Given the description of an element on the screen output the (x, y) to click on. 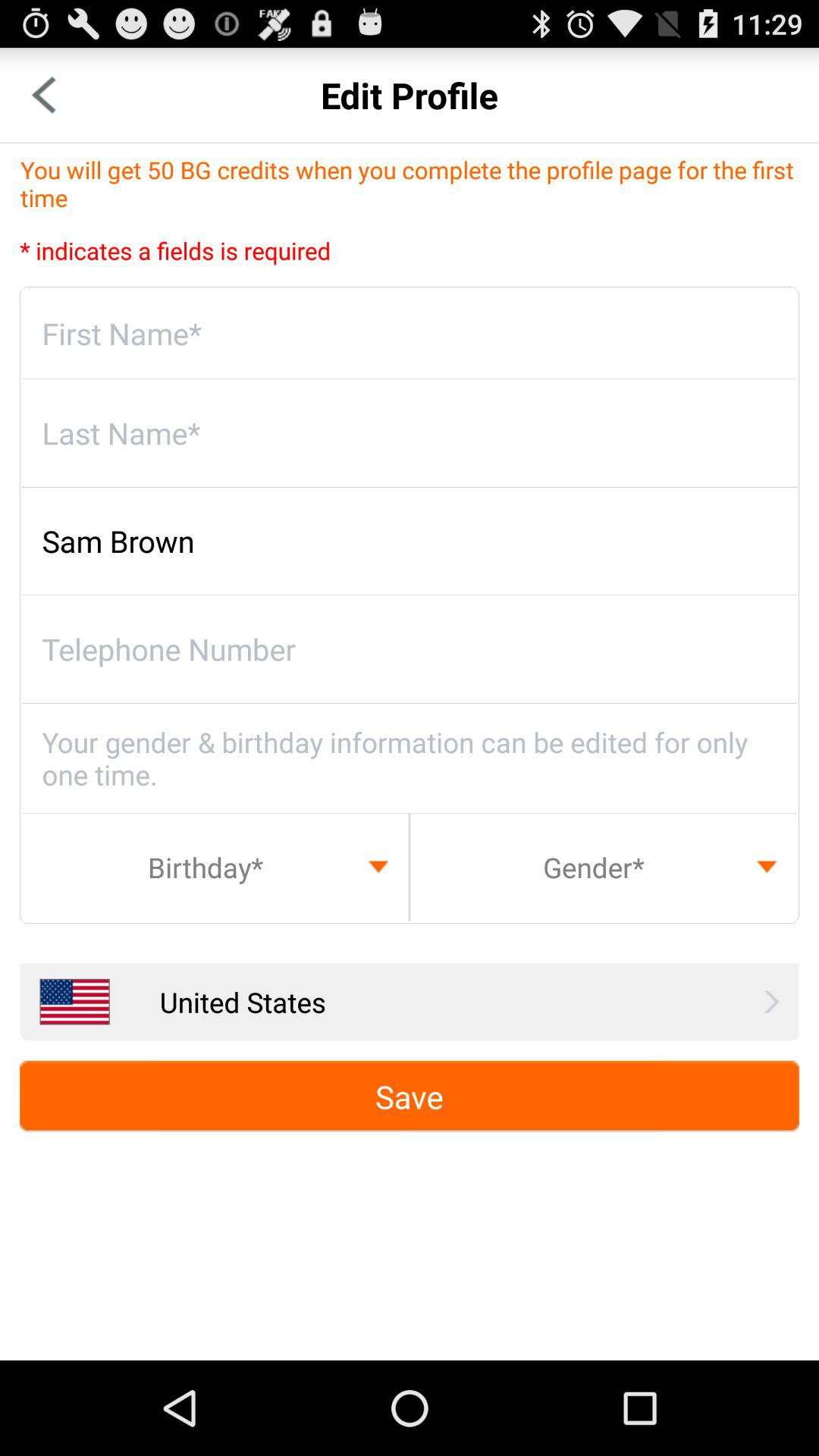
write last name (409, 432)
